Given the description of an element on the screen output the (x, y) to click on. 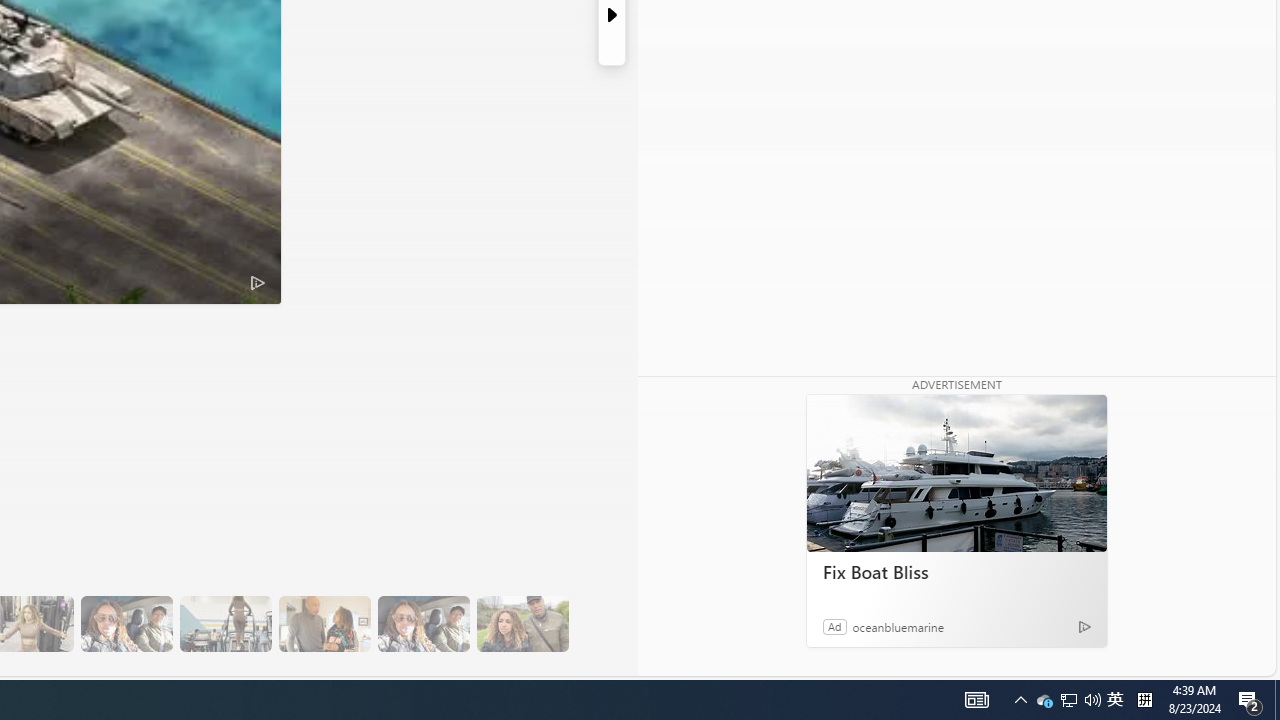
Fix Boat Bliss (956, 473)
20 Overall, It Will Improve Your Health (522, 624)
16 The Couple's Program Helps with Accountability (125, 624)
16 The Couple's Program Helps with Accountability (125, 624)
20 Overall, It Will Improve Your Health (522, 624)
19 It Also Simplifies Thiings (423, 624)
19 It Also Simplifies Thiings (423, 624)
oceanbluemarine (898, 626)
18 It's More Fun Doing It with Someone Else (324, 624)
